Given the description of an element on the screen output the (x, y) to click on. 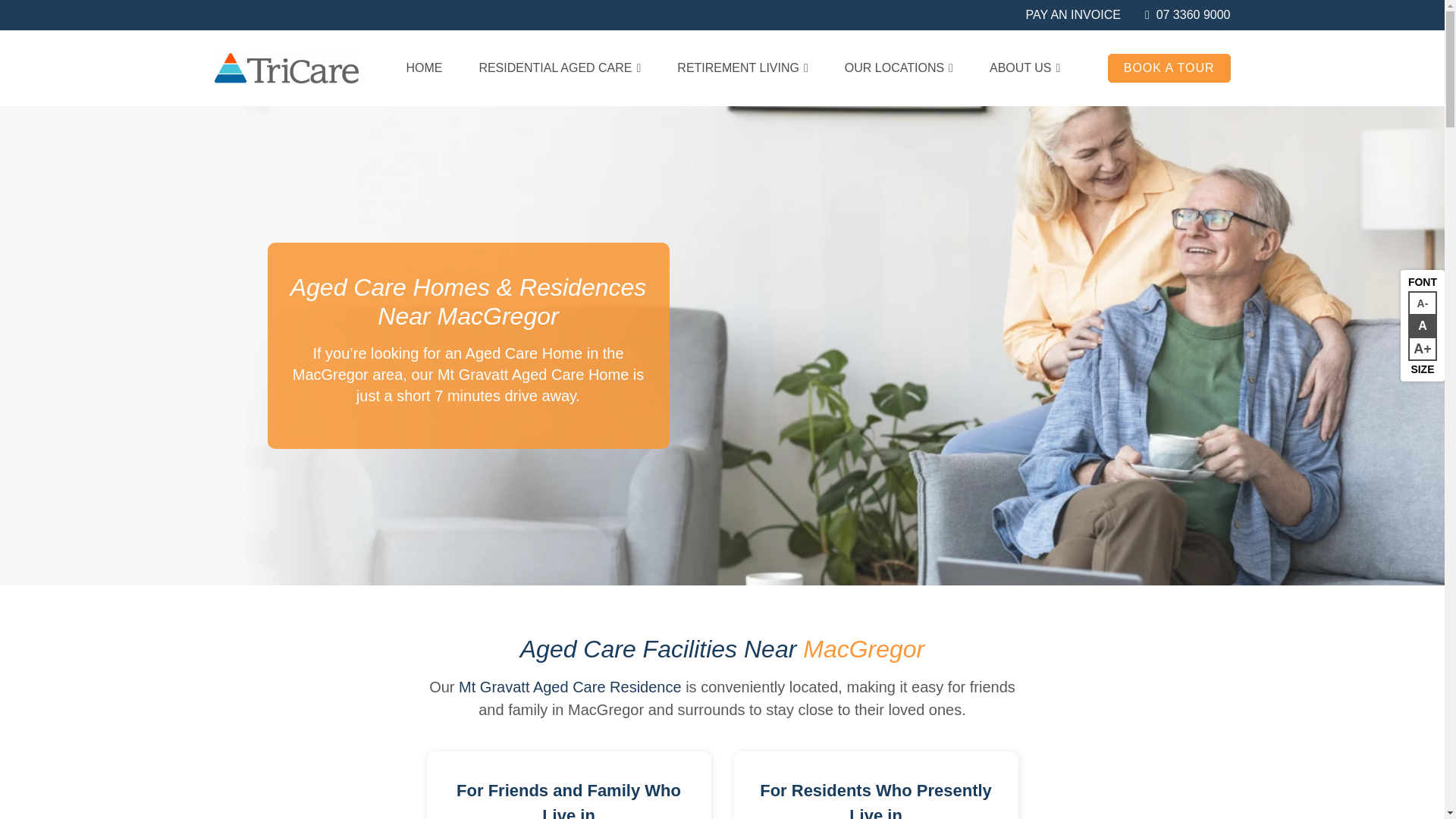
Decrease font size (1422, 302)
Reset font size (1422, 348)
Increase font size (1422, 302)
